Given the description of an element on the screen output the (x, y) to click on. 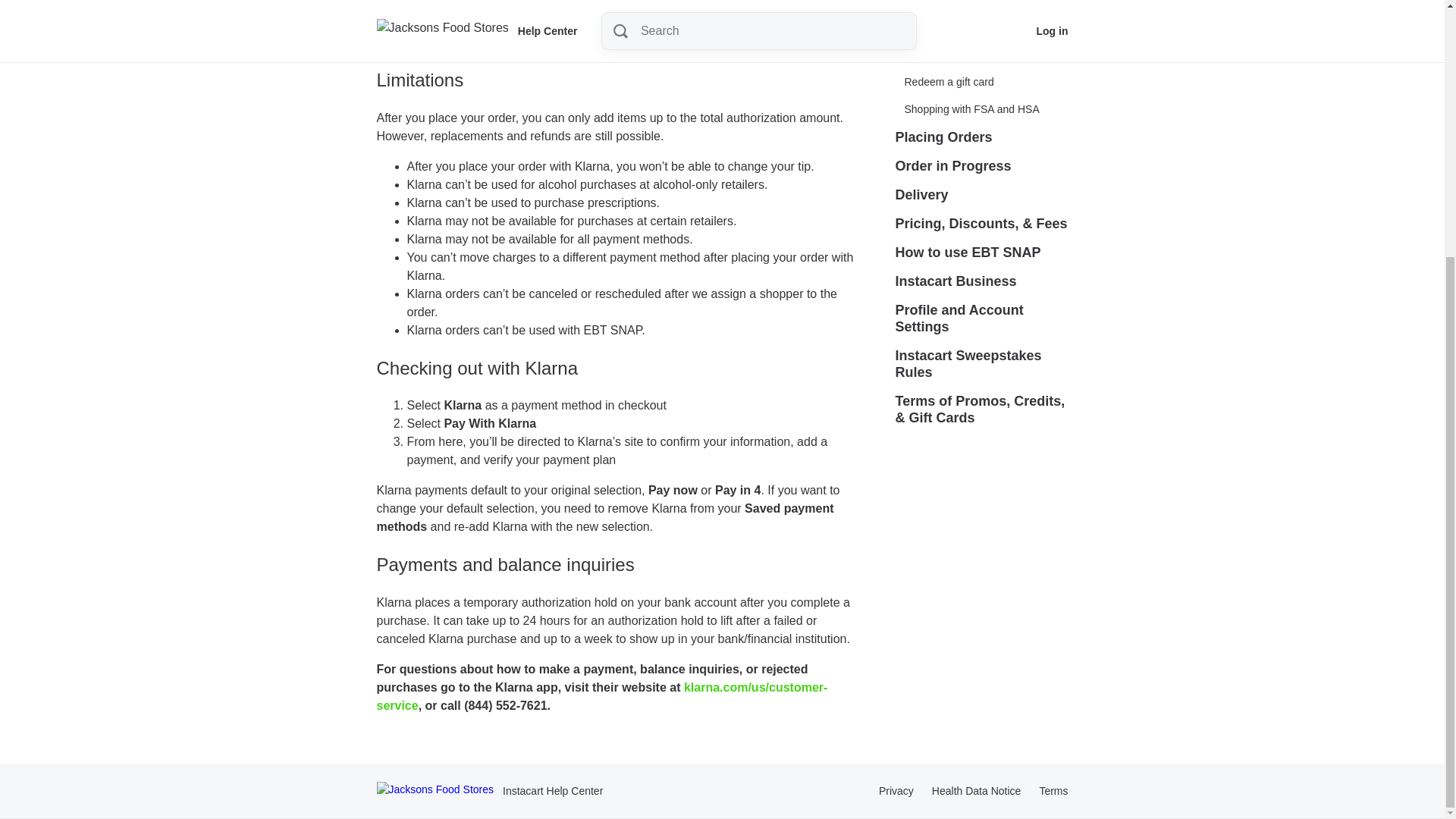
Redeem a gift card (949, 81)
Profile and Account Settings (981, 318)
Instacart Business (955, 280)
Health Data Notice (976, 790)
Shopping with FSA and HSA (971, 108)
Delivery (921, 194)
Placing Orders (943, 136)
Terms (1053, 790)
Problem with a gift card (959, 26)
How to use EBT SNAP (968, 252)
Order in Progress (952, 165)
Pay with a gift card (949, 6)
Instacart Sweepstakes Rules (981, 363)
Purchase a gift card (951, 53)
Privacy (896, 790)
